Given the description of an element on the screen output the (x, y) to click on. 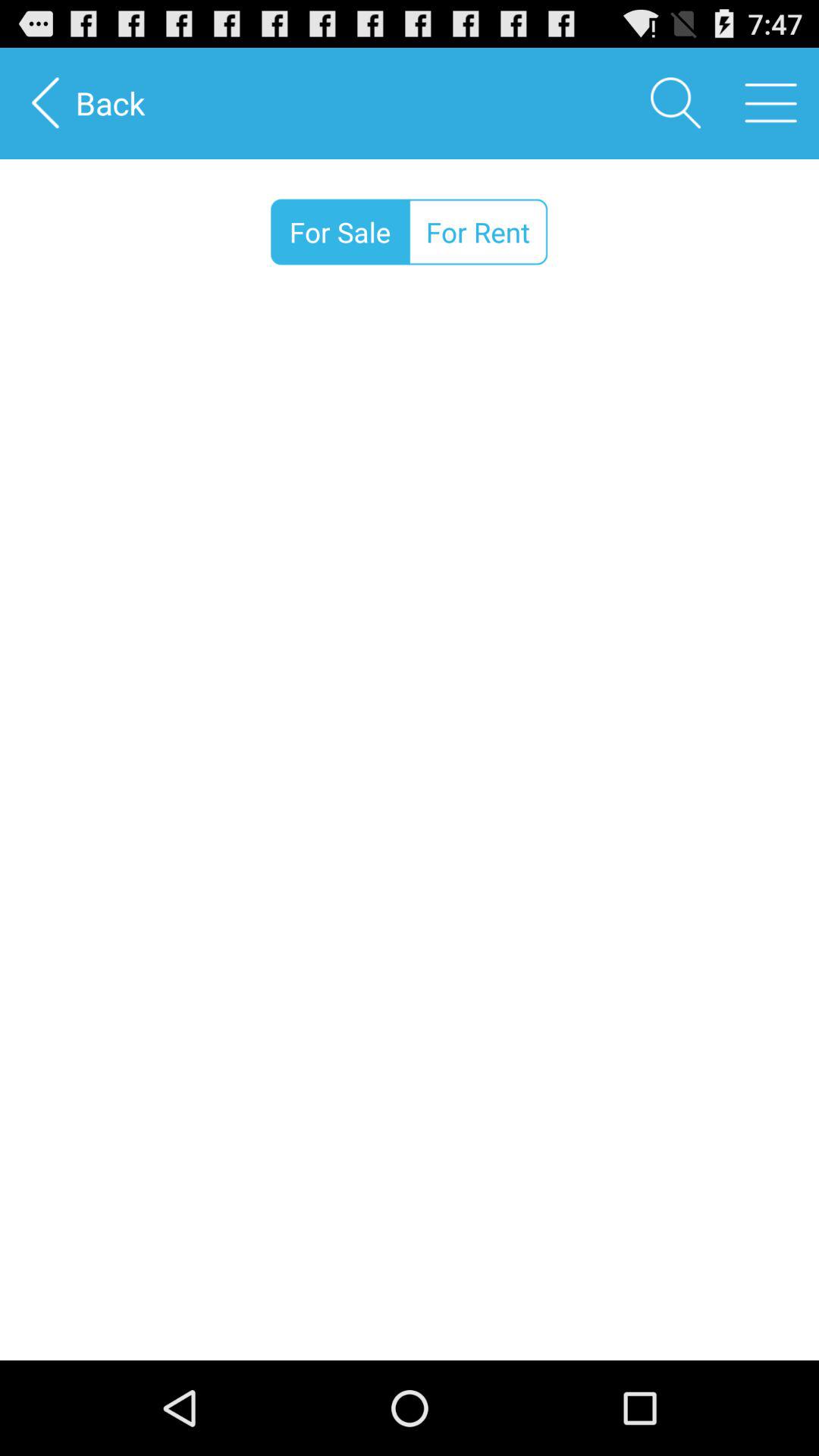
select for sale icon (340, 232)
